Given the description of an element on the screen output the (x, y) to click on. 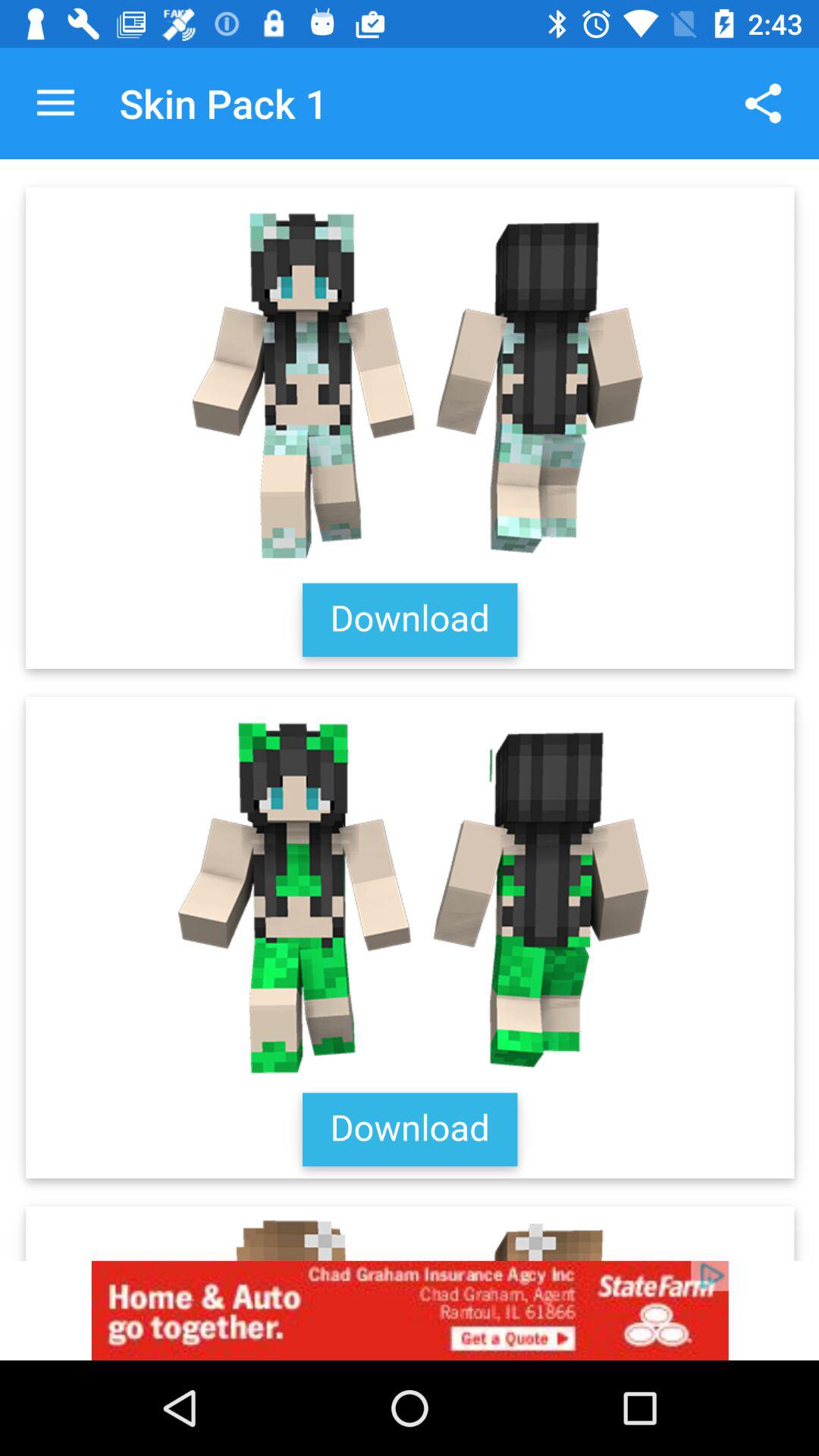
advertisements to watch (409, 1310)
